Given the description of an element on the screen output the (x, y) to click on. 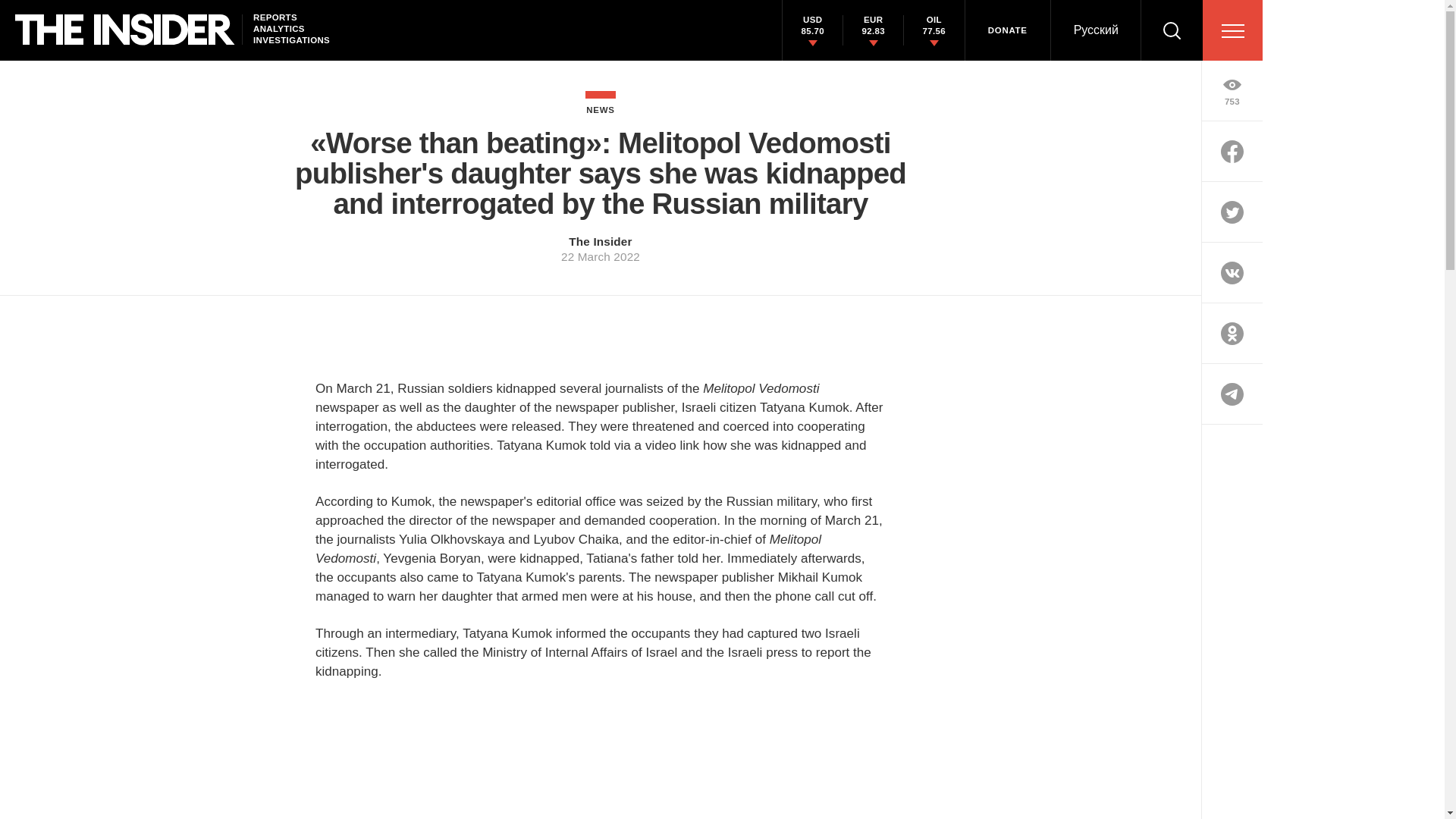
The Insider (600, 241)
NEWS (600, 101)
DONATE (1006, 30)
